Given the description of an element on the screen output the (x, y) to click on. 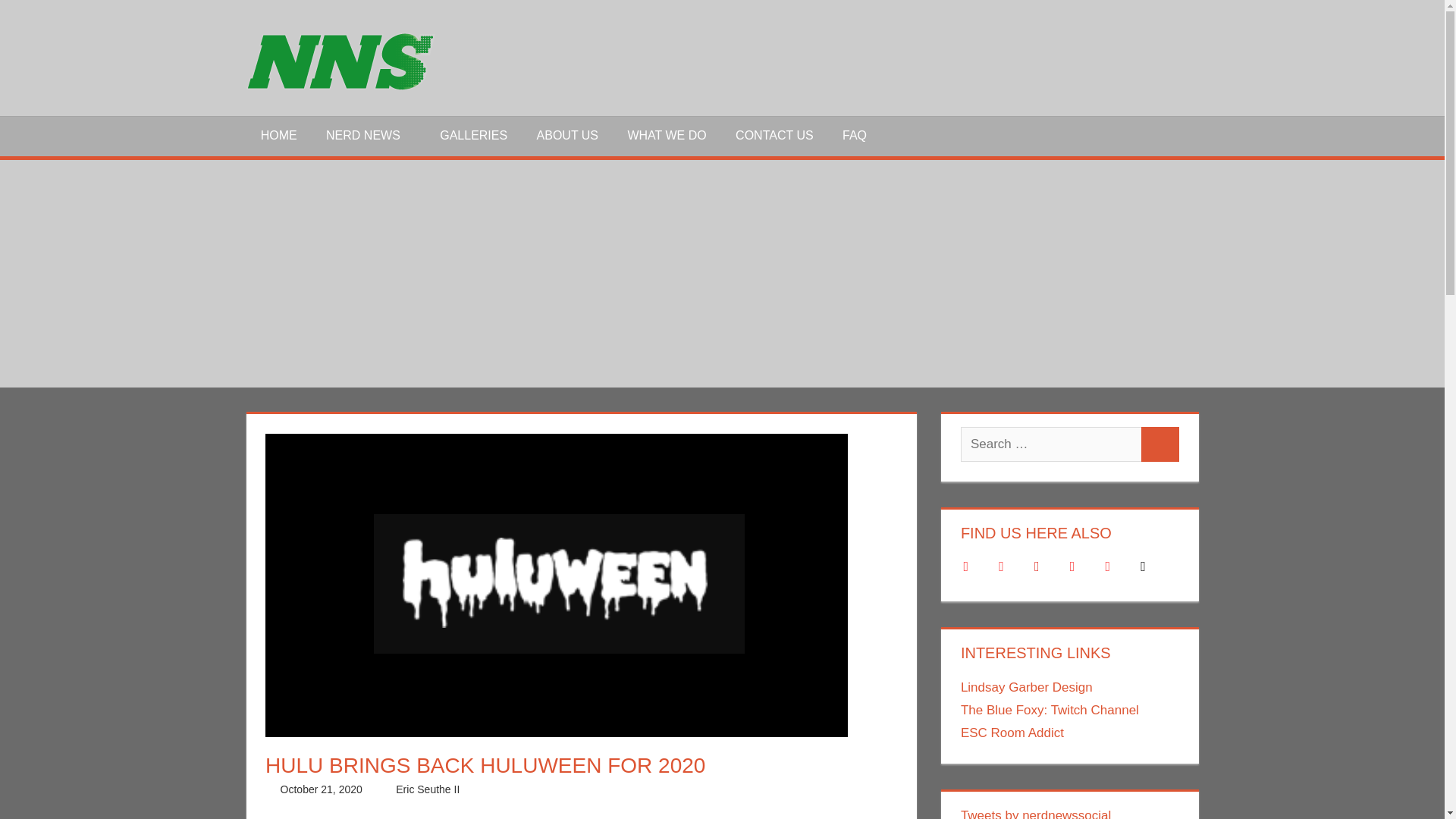
October 21, 2020 (321, 788)
Default Label (1107, 564)
HOME (278, 135)
Hulu (642, 788)
WHAT WE DO (666, 135)
Instagram (1071, 564)
Default Label (1143, 564)
ABOUT US (566, 135)
NERD NEWS (368, 135)
Streamers (723, 788)
